Given the description of an element on the screen output the (x, y) to click on. 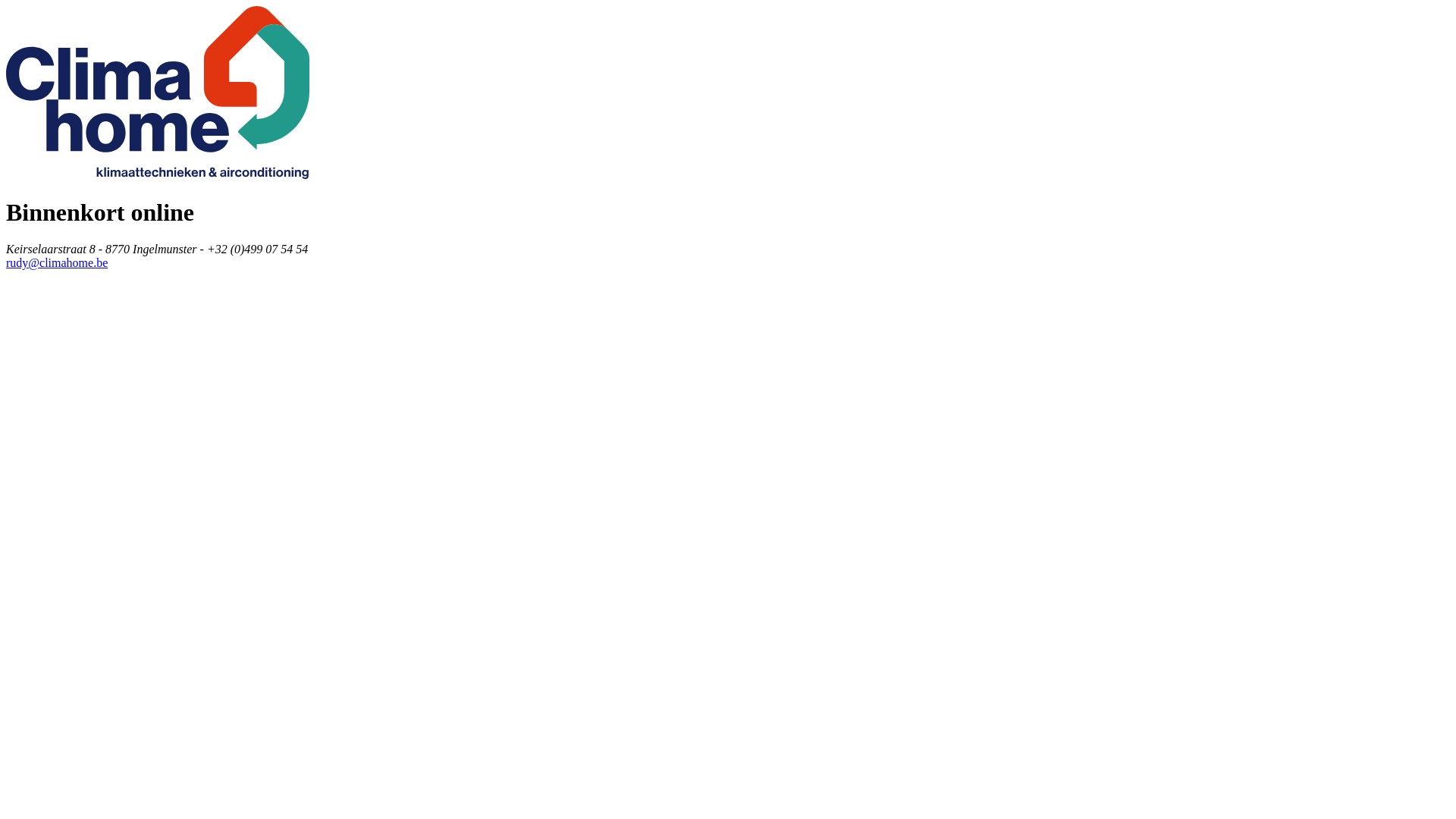
rudy@climahome.be Element type: text (56, 262)
